Given the description of an element on the screen output the (x, y) to click on. 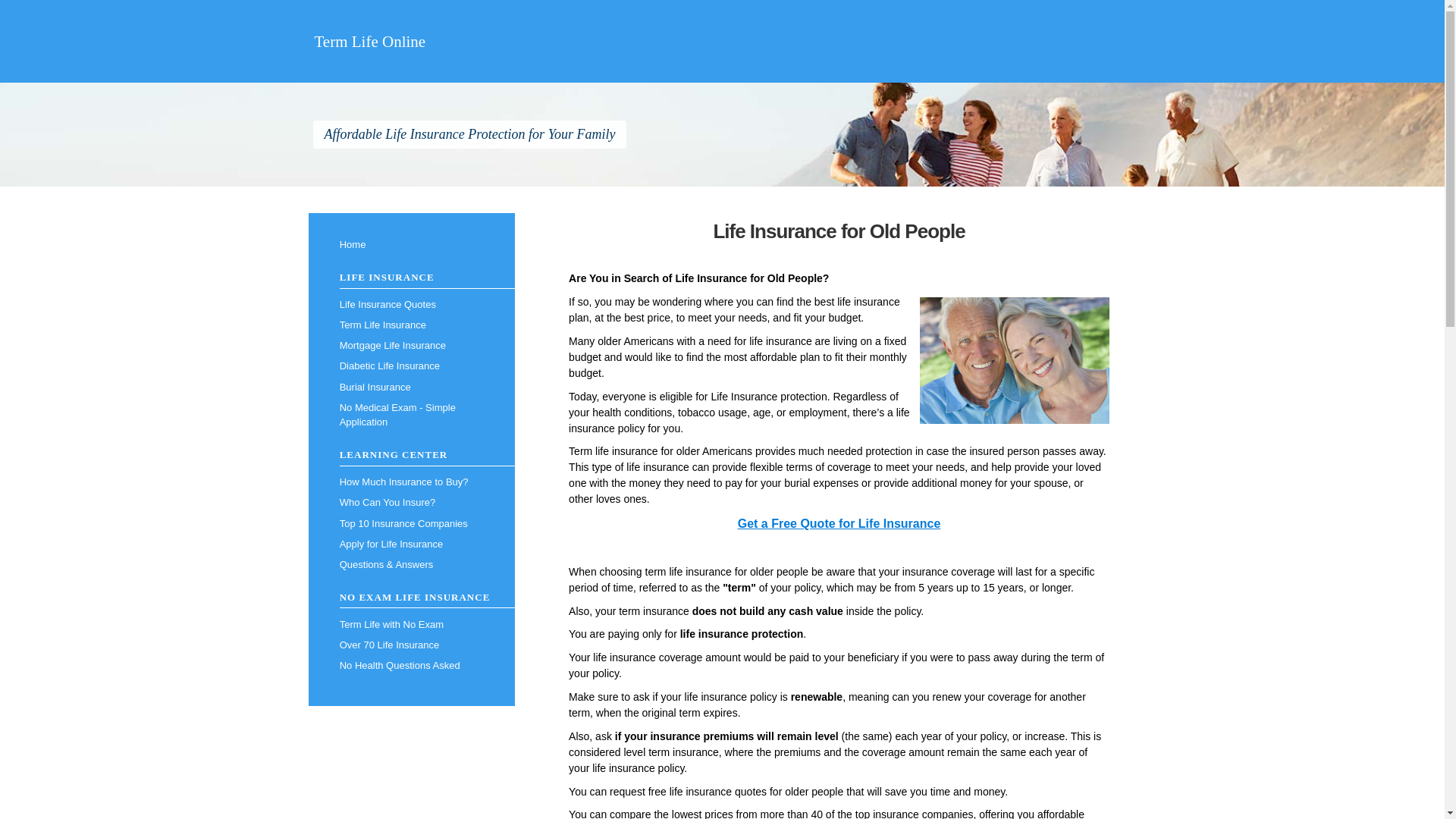
Mortgage Life Insurance (411, 345)
Burial Insurance (411, 386)
Life Insurance for Elderly People (1014, 360)
Get a Free Quote for Life Insurance (839, 522)
Life Insurance Quotes (411, 304)
No Medical Exam - Simple Application (411, 415)
Top 10 Insurance Companies (411, 523)
Over 70 Life Insurance (411, 644)
Diabetic Life Insurance (411, 366)
Who Can You Insure? (411, 503)
Term Life Online (368, 40)
Home (411, 244)
Term Life with No Exam (411, 624)
Term Life Insurance (411, 324)
Apply for Life Insurance (411, 543)
